Given the description of an element on the screen output the (x, y) to click on. 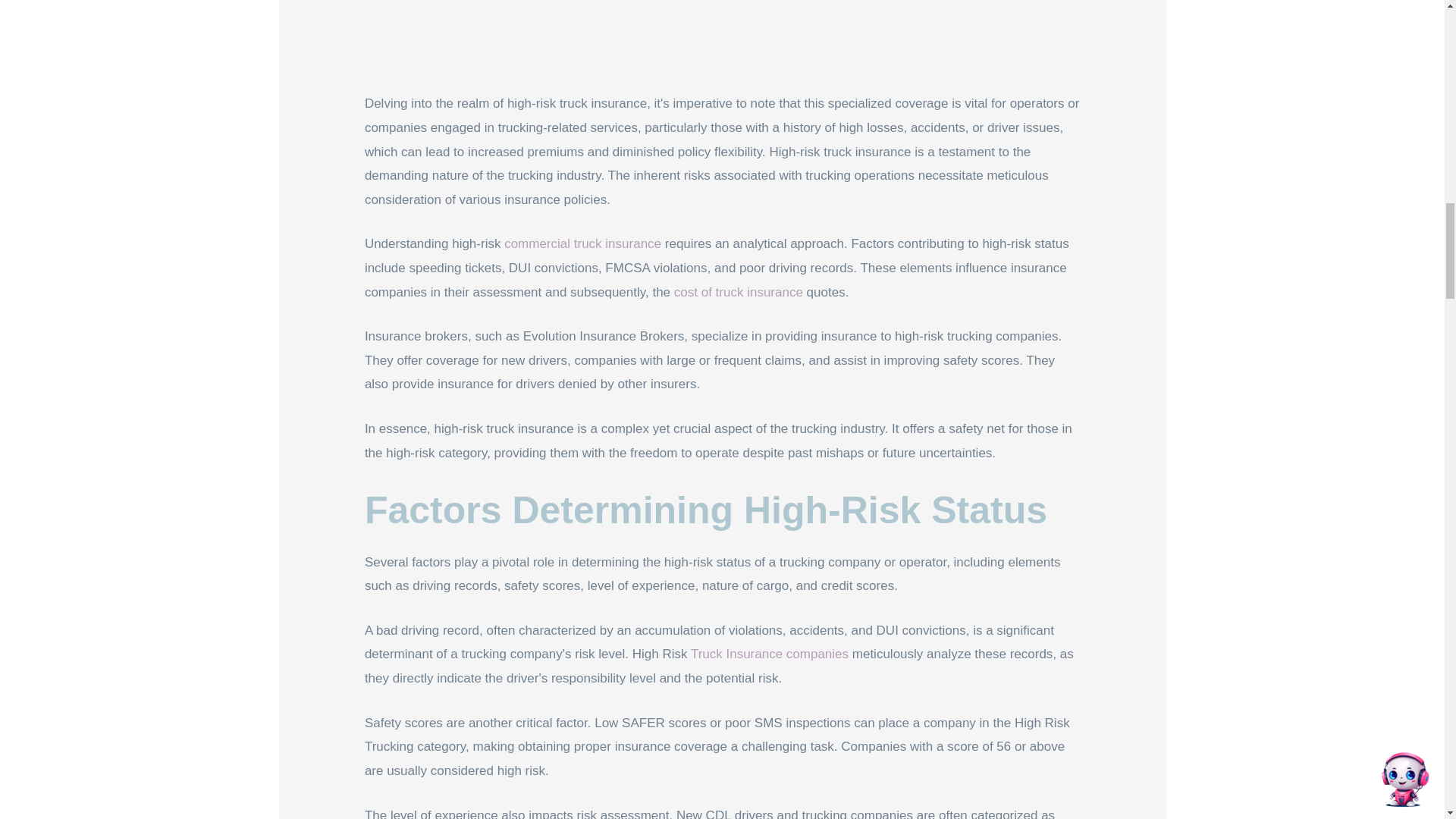
Truck Insurance companies (769, 653)
Cost of Truck Insurance (738, 292)
commercial truck insurance (582, 243)
Truck Insurance Companies (769, 653)
cost of truck insurance (738, 292)
Commercial Truck Insurance (582, 243)
